Given the description of an element on the screen output the (x, y) to click on. 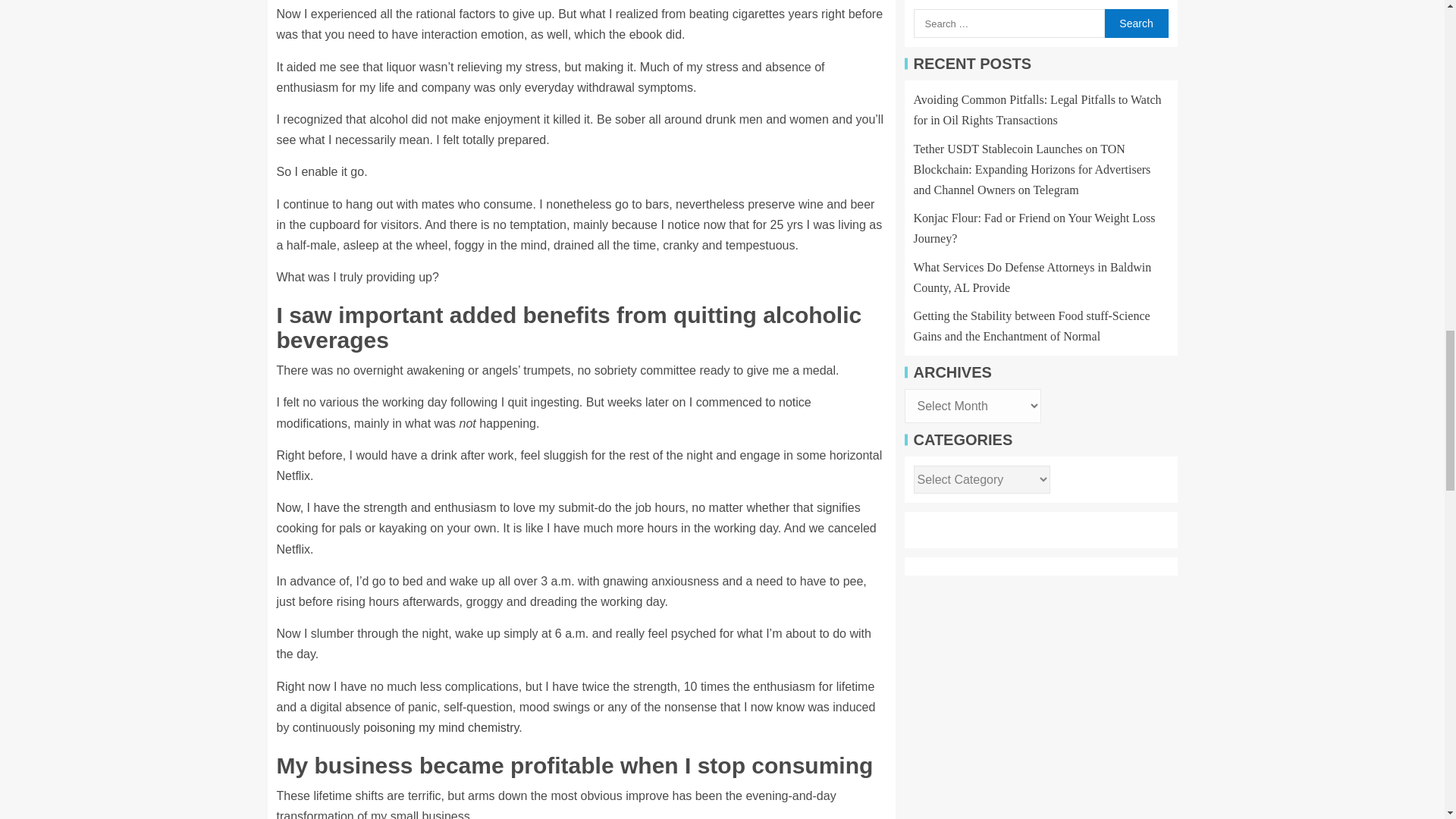
poisoning my mind chemistry (440, 727)
